Given the description of an element on the screen output the (x, y) to click on. 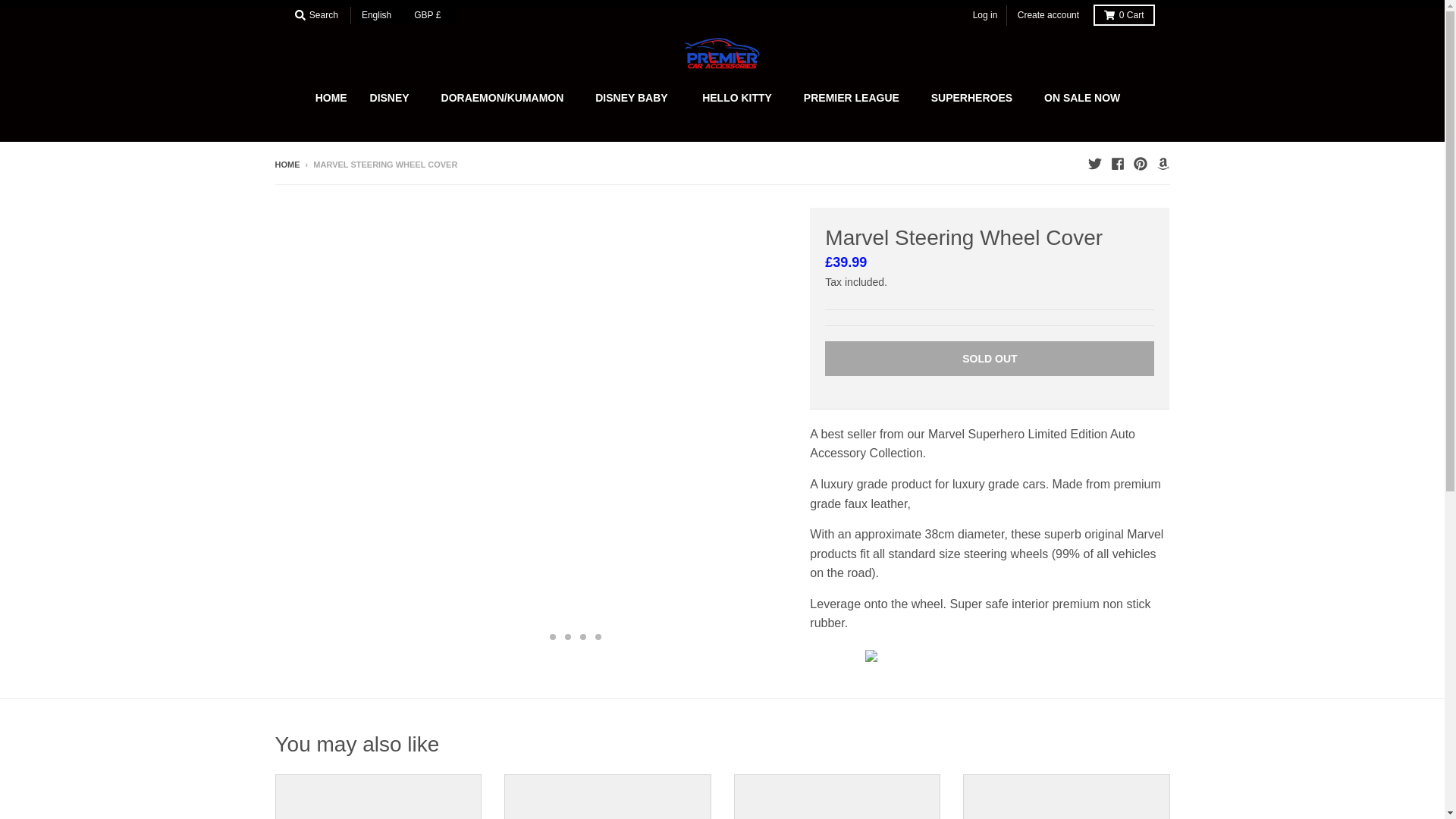
Back to the frontpage (287, 163)
Search (315, 14)
English (381, 15)
Facebook - Premier Car Accessories (1116, 163)
Amazon - Premier Car Accessories (1162, 163)
Twitter - Premier Car Accessories (1093, 163)
Pinterest - Premier Car Accessories (1139, 163)
